Given the description of an element on the screen output the (x, y) to click on. 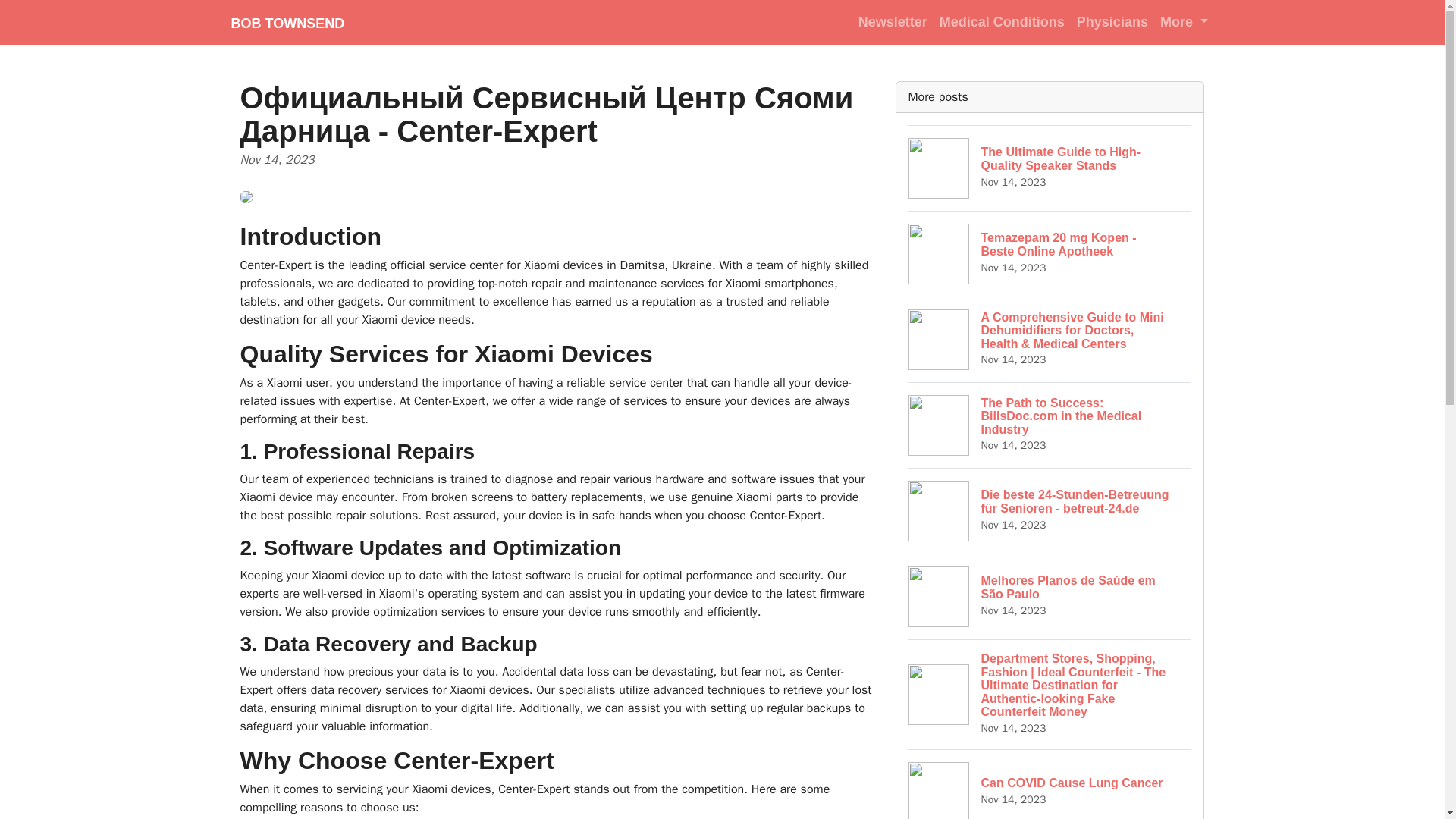
BOB TOWNSEND (1050, 253)
Newsletter (286, 22)
More (892, 21)
Medical Conditions (1184, 21)
Physicians (1001, 21)
